Given the description of an element on the screen output the (x, y) to click on. 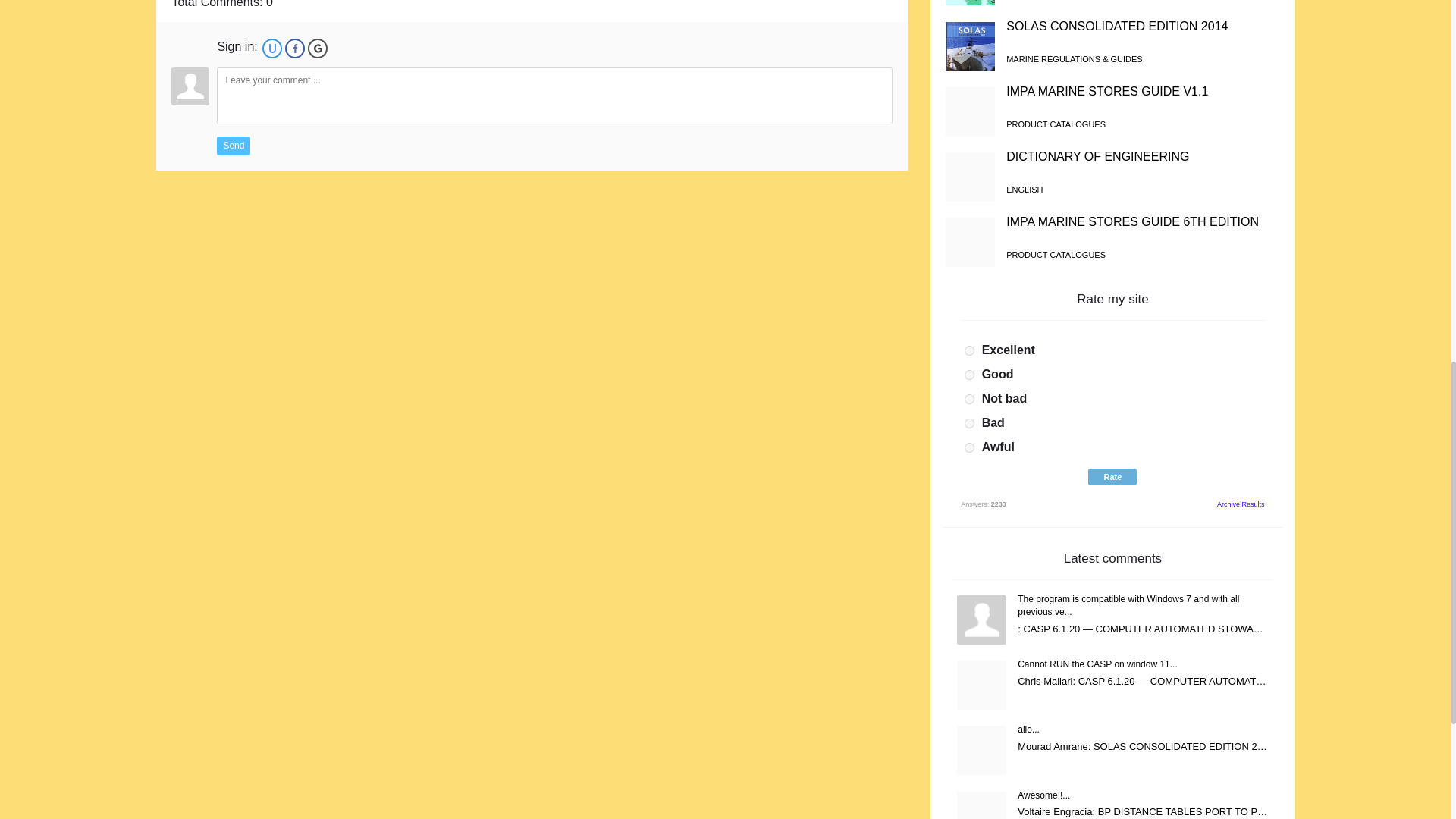
IMPA MARINE STORES GUIDE 6TH EDITION (1132, 221)
ENGLISH (1024, 189)
2 (968, 375)
1 (968, 350)
5 (968, 447)
4 (968, 423)
Log in with uID (272, 48)
SOLAS CONSOLIDATED EDITION 2014 (1116, 25)
Rate (1112, 476)
DICTIONARY OF ENGINEERING (1097, 155)
PRODUCT CATALOGUES (1055, 254)
IMPA MARINE STORES GUIDE V1.1 (1107, 91)
3 (968, 398)
Log in with Google (317, 48)
PRODUCT CATALOGUES (1055, 123)
